Given the description of an element on the screen output the (x, y) to click on. 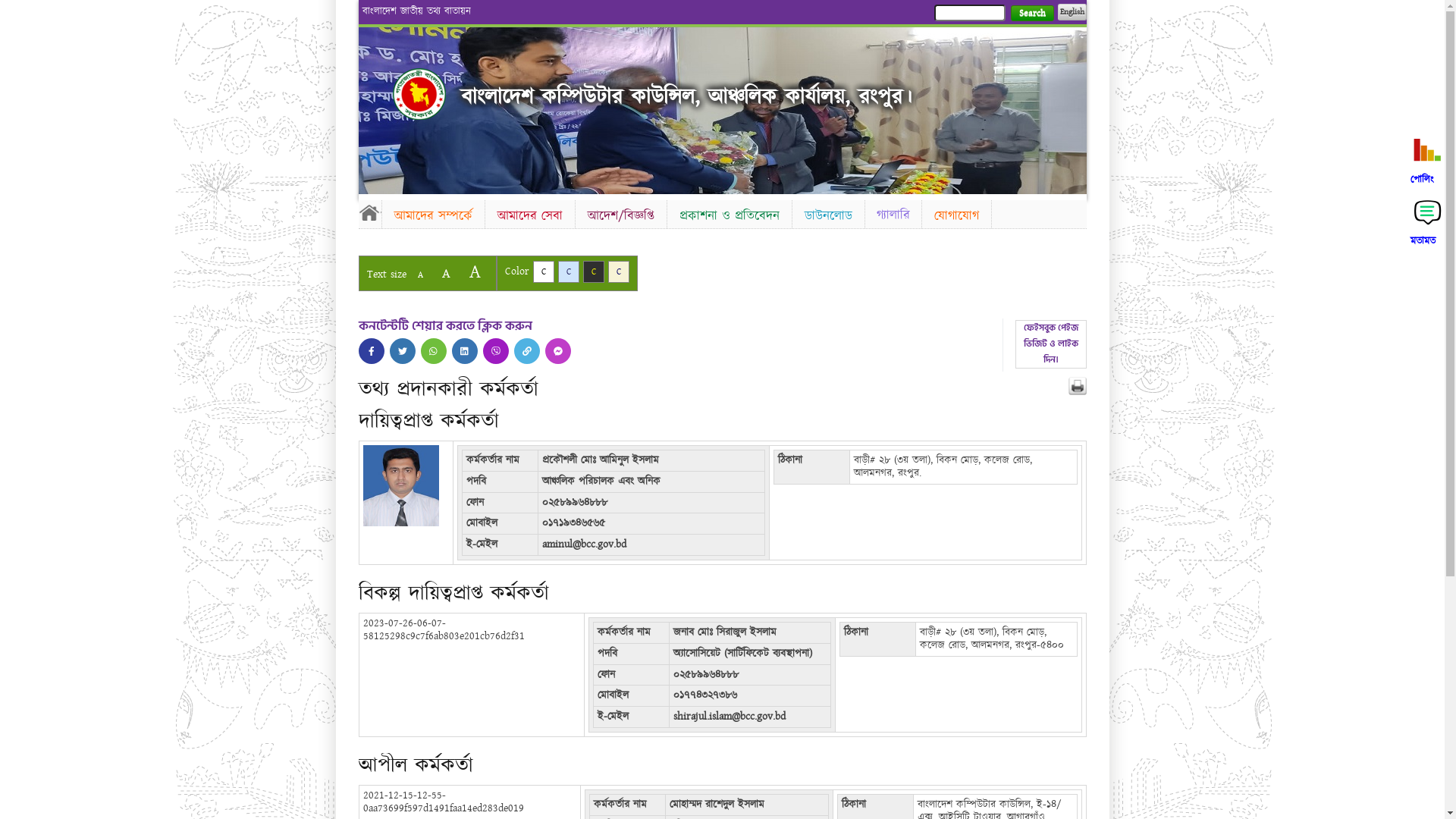
Search Element type: text (1031, 13)
English Element type: text (1071, 11)
C Element type: text (618, 271)
A Element type: text (445, 273)
C Element type: text (542, 271)
C Element type: text (568, 271)
A Element type: text (474, 271)

    
     Element type: hover (464, 351)

					
				 Element type: hover (418, 93)
C Element type: text (592, 271)
A Element type: text (419, 274)
